Given the description of an element on the screen output the (x, y) to click on. 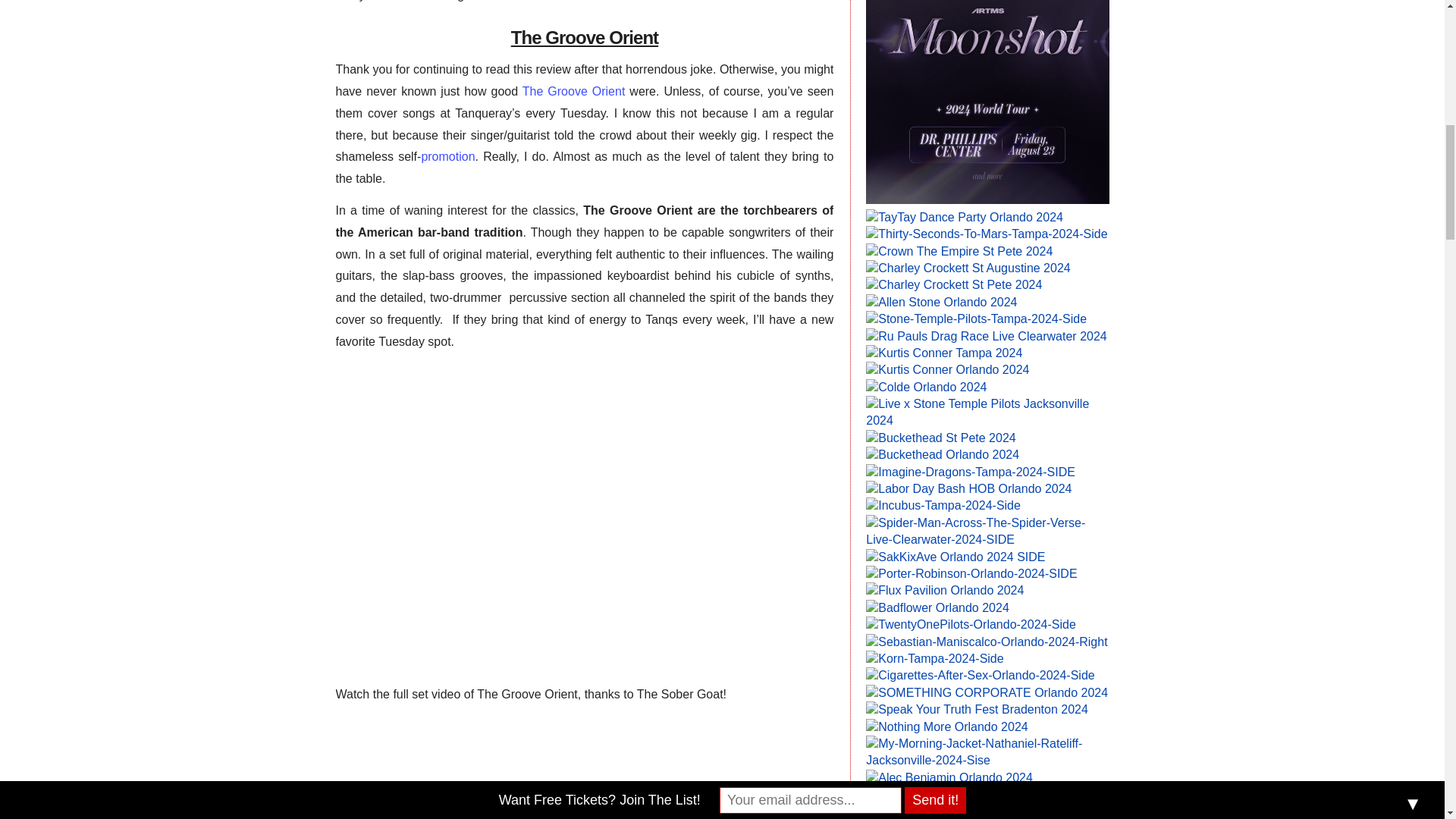
promotion (447, 155)
The Groove Orient (574, 91)
The Groove Orient (574, 91)
